Given the description of an element on the screen output the (x, y) to click on. 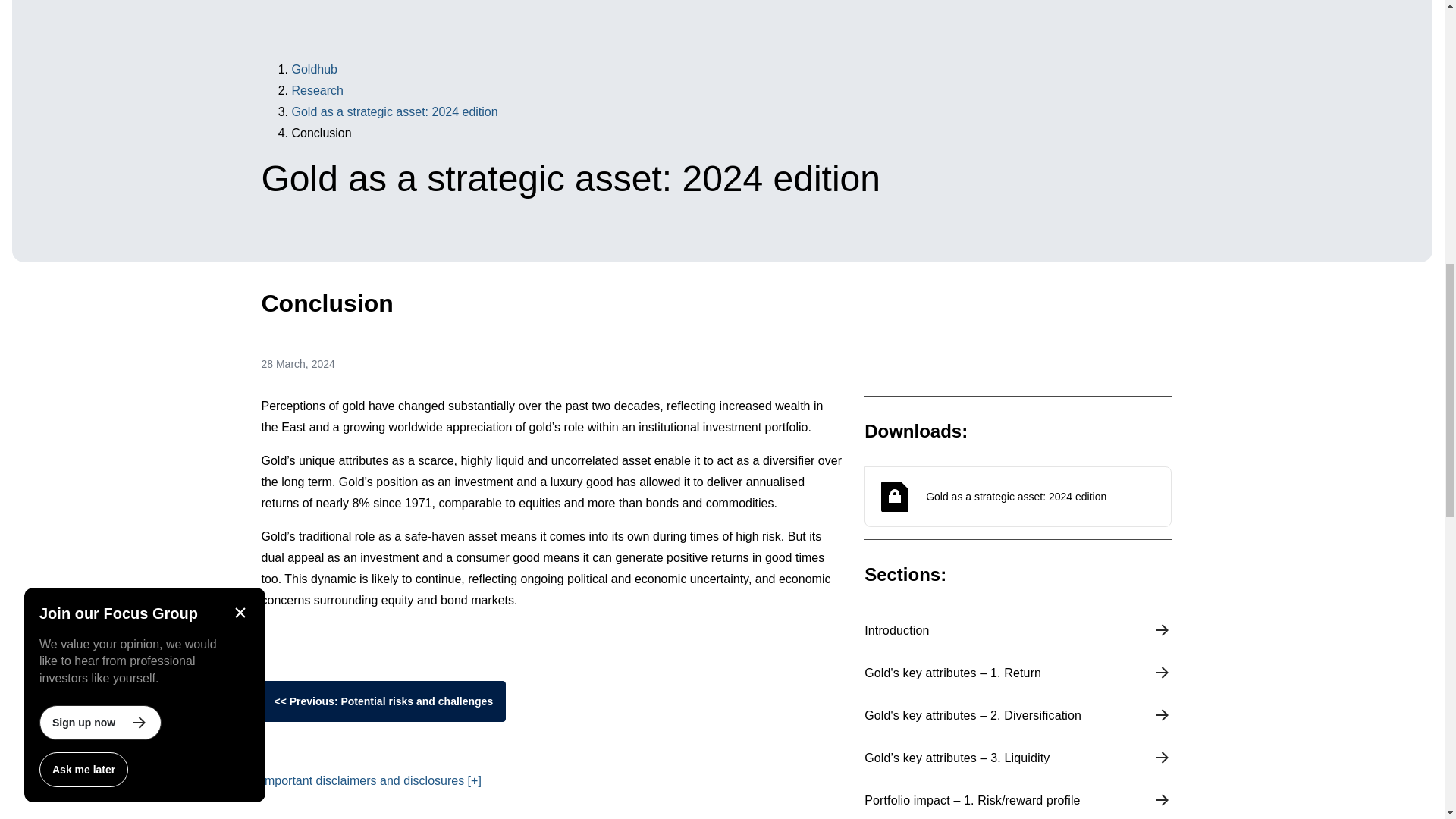
Gold as a strategic asset: 2024 edition (1018, 496)
Gold as a strategic asset: 2024 edition (394, 111)
Research (316, 90)
Introduction (1018, 630)
Goldhub (314, 69)
